Given the description of an element on the screen output the (x, y) to click on. 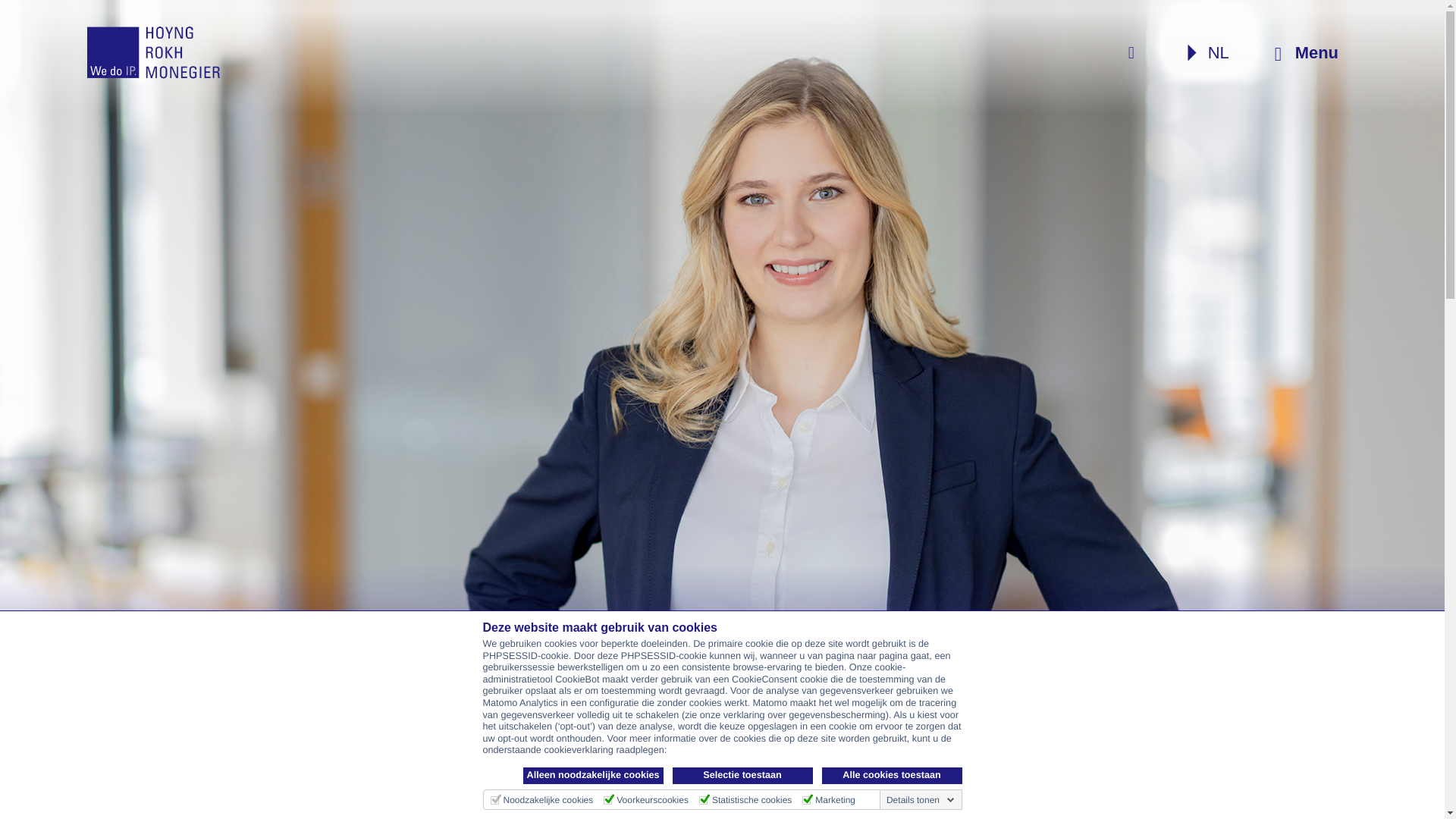
Alle cookies toestaan (892, 775)
Selectie toestaan (741, 775)
NL (1210, 53)
Alleen noodzakelijke cookies (592, 775)
Details tonen (920, 799)
